Given the description of an element on the screen output the (x, y) to click on. 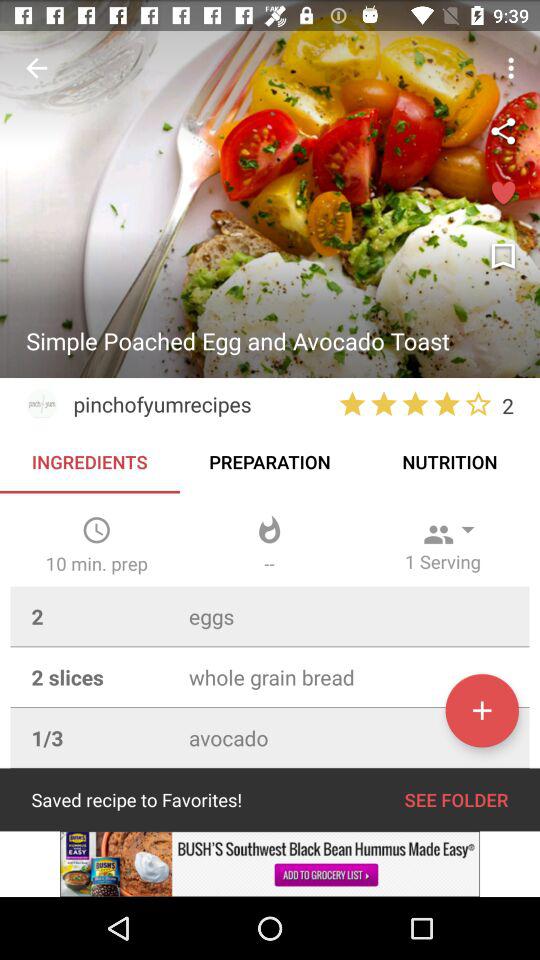
open advertisement (270, 864)
